Given the description of an element on the screen output the (x, y) to click on. 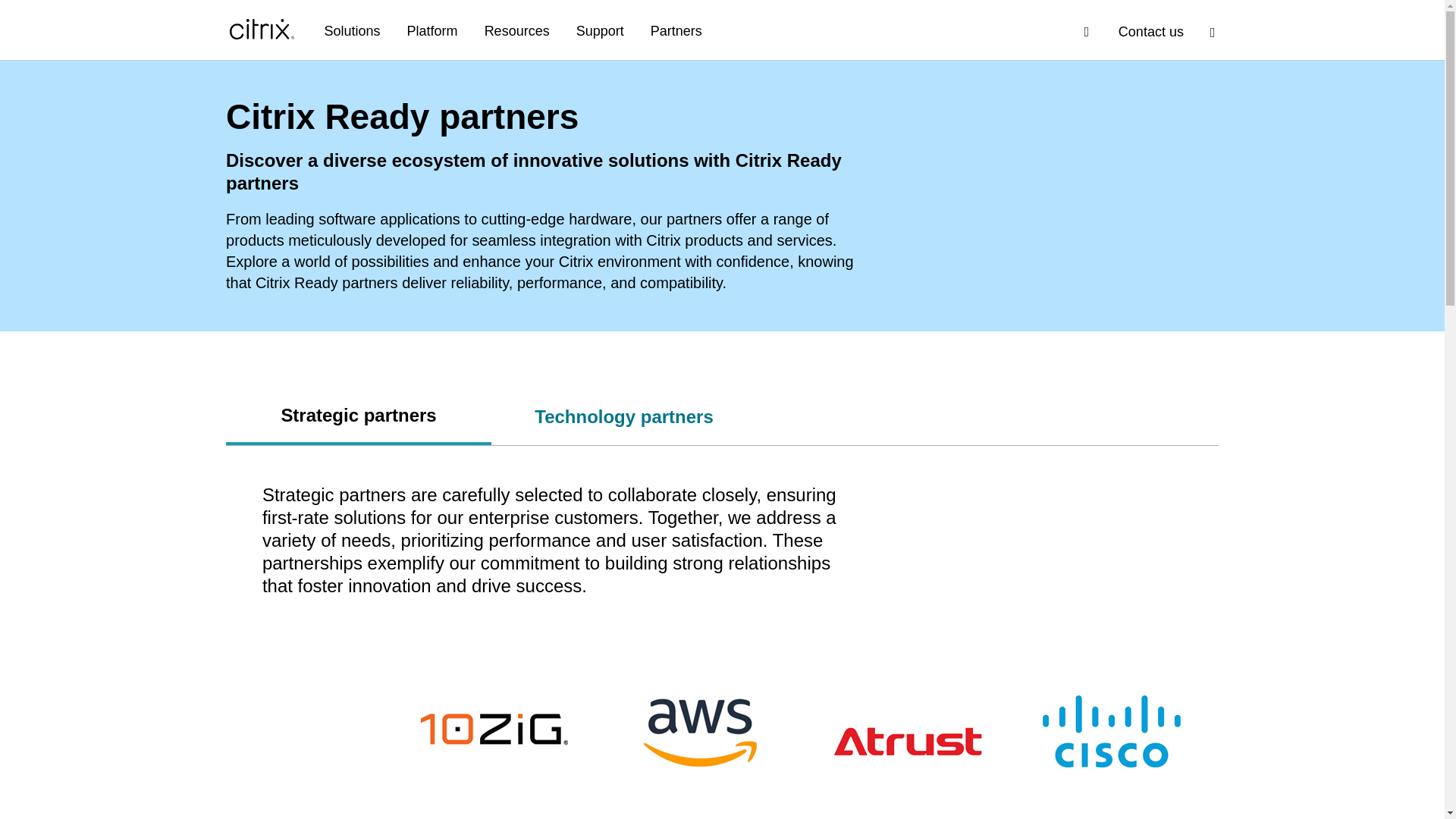
Solutions (352, 31)
Platform (432, 31)
Resources (517, 31)
